Given the description of an element on the screen output the (x, y) to click on. 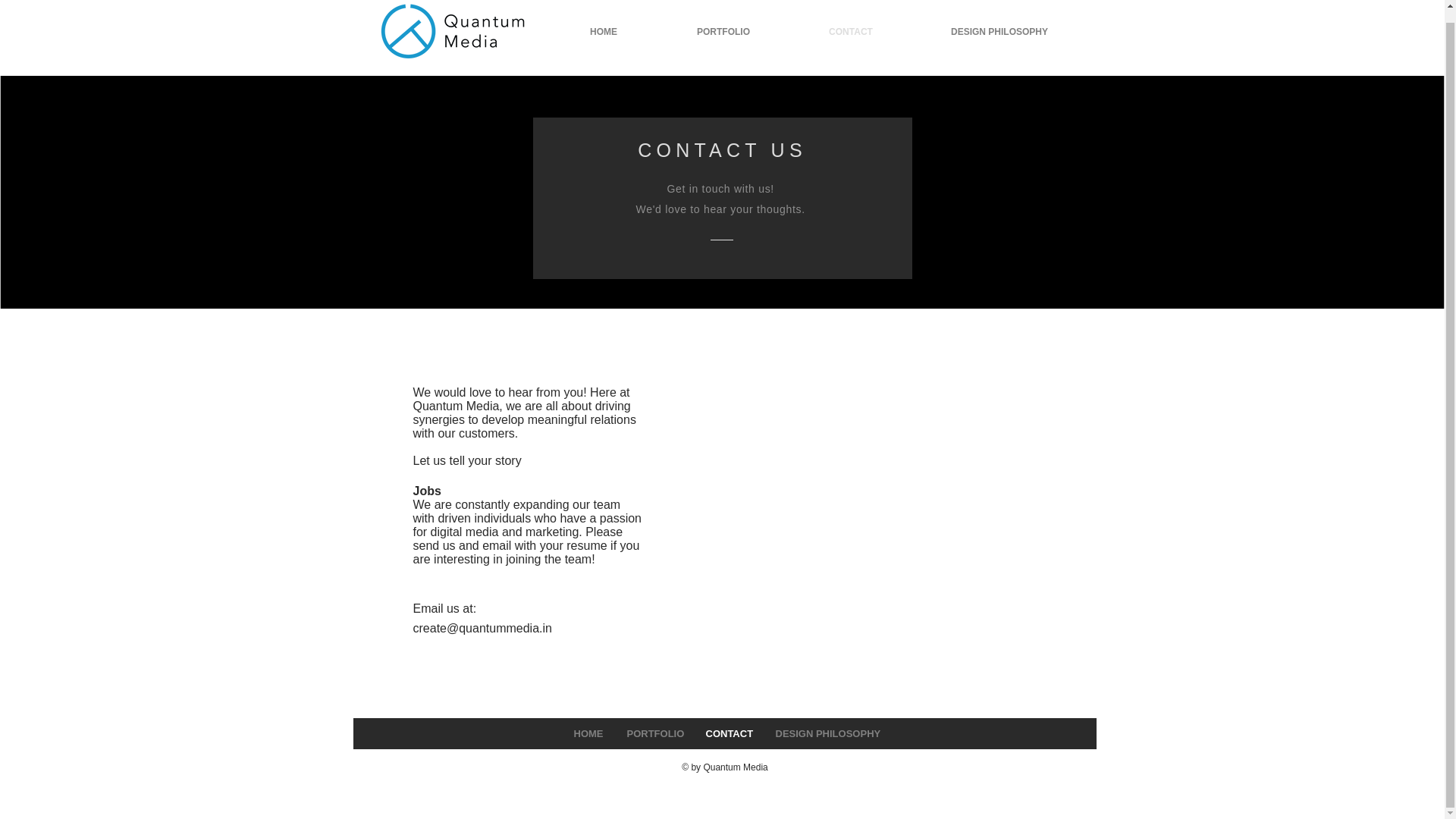
DESIGN PHILOSOPHY (998, 31)
HOME (587, 733)
DESIGN PHILOSOPHY (824, 733)
PORTFOLIO (722, 31)
CONTACT (851, 31)
CONTACT (727, 733)
HOME (604, 31)
PORTFOLIO (653, 733)
